Given the description of an element on the screen output the (x, y) to click on. 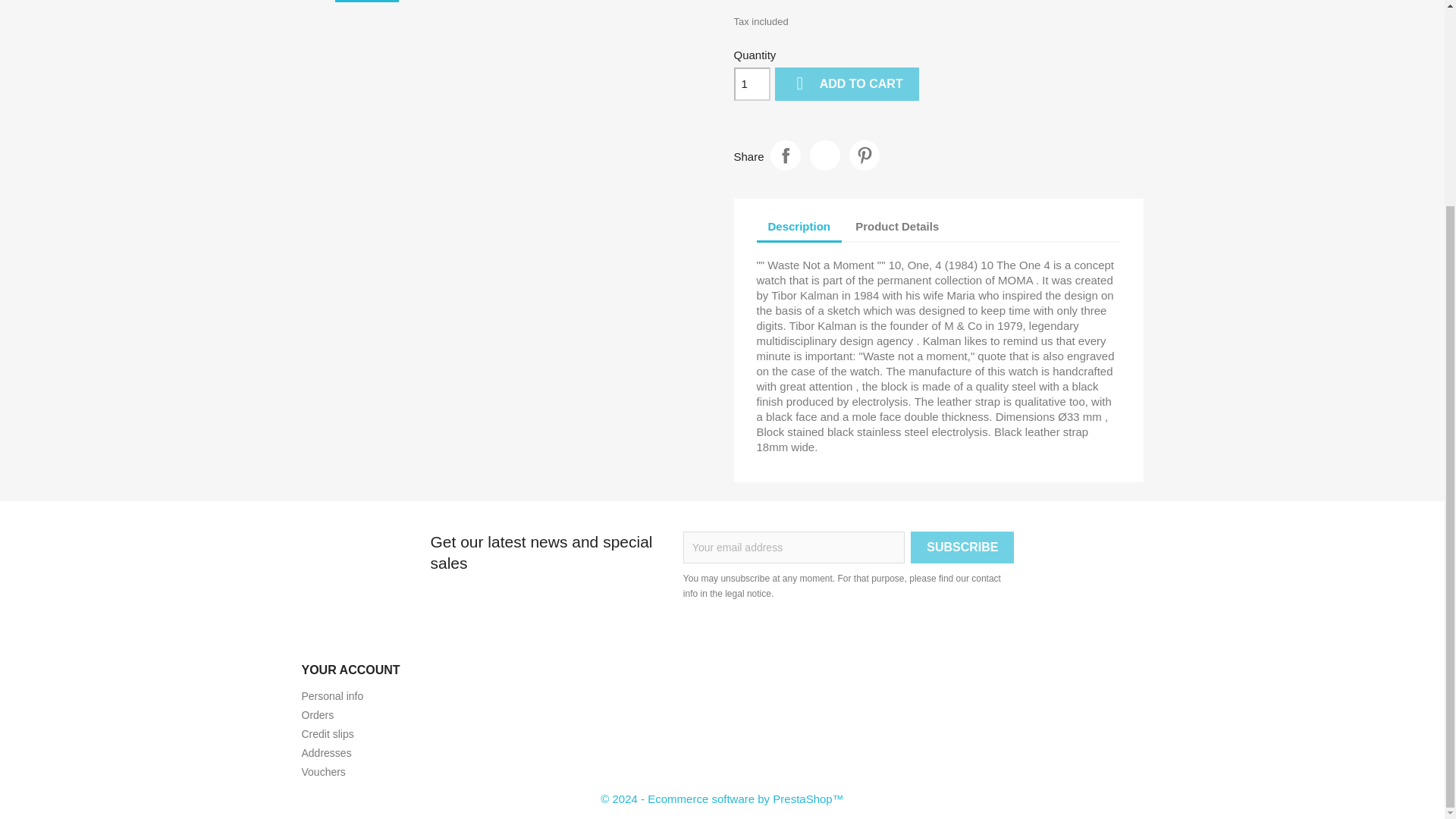
Share (785, 155)
Personal info (332, 695)
Addresses (326, 752)
YOUR ACCOUNT (350, 669)
Tweet (824, 155)
1 (751, 83)
Credit slips (327, 734)
Product Details (897, 226)
Subscribe (962, 547)
Subscribe (962, 547)
Description (800, 227)
Pinterest (863, 155)
Orders (317, 715)
Vouchers (323, 771)
